Given the description of an element on the screen output the (x, y) to click on. 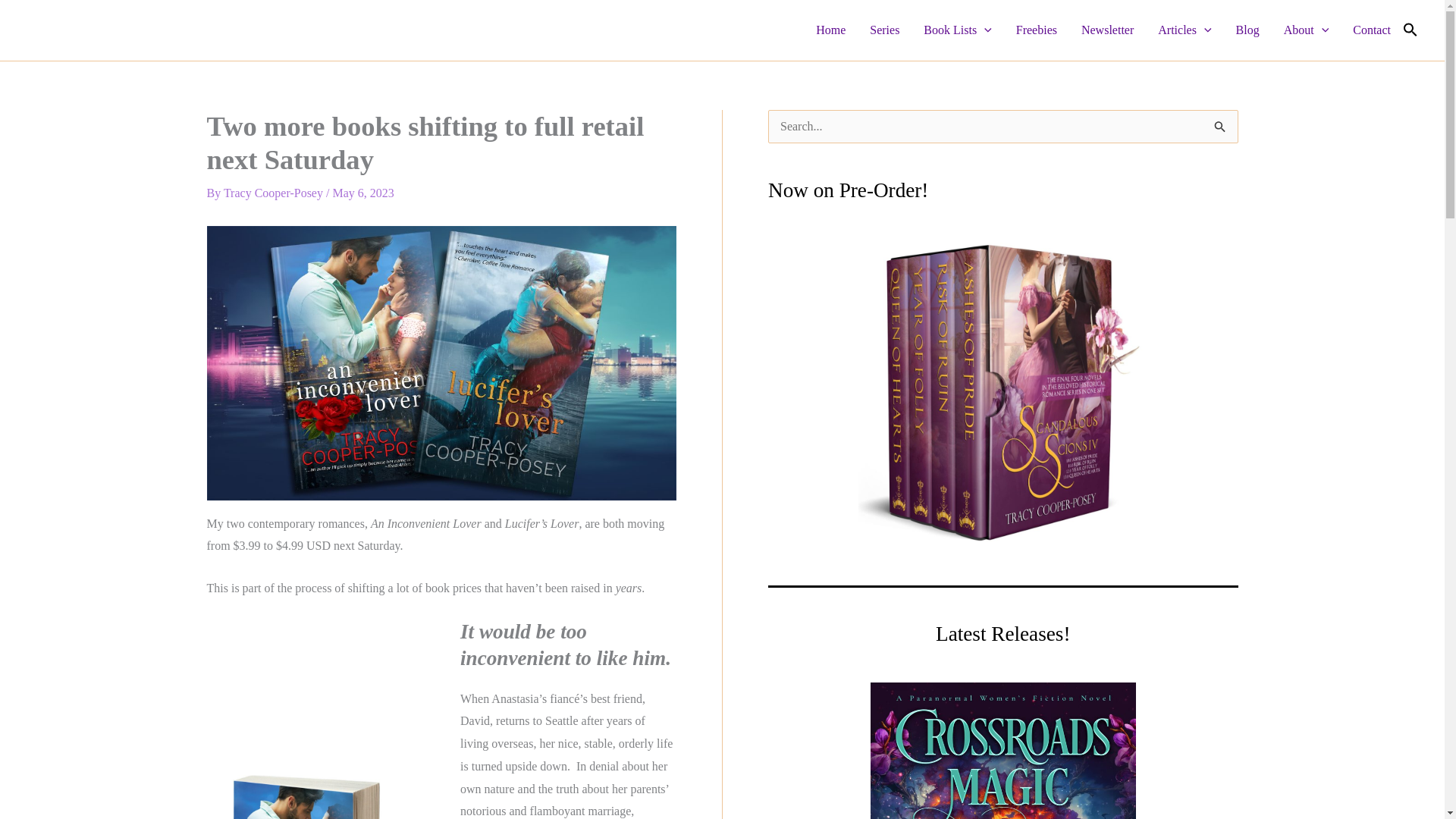
Newsletter (1106, 30)
About (1305, 30)
View all posts by Tracy Cooper-Posey (275, 192)
Contact (1371, 30)
Freebies (1036, 30)
Articles (1184, 30)
Book Lists (957, 30)
